Given the description of an element on the screen output the (x, y) to click on. 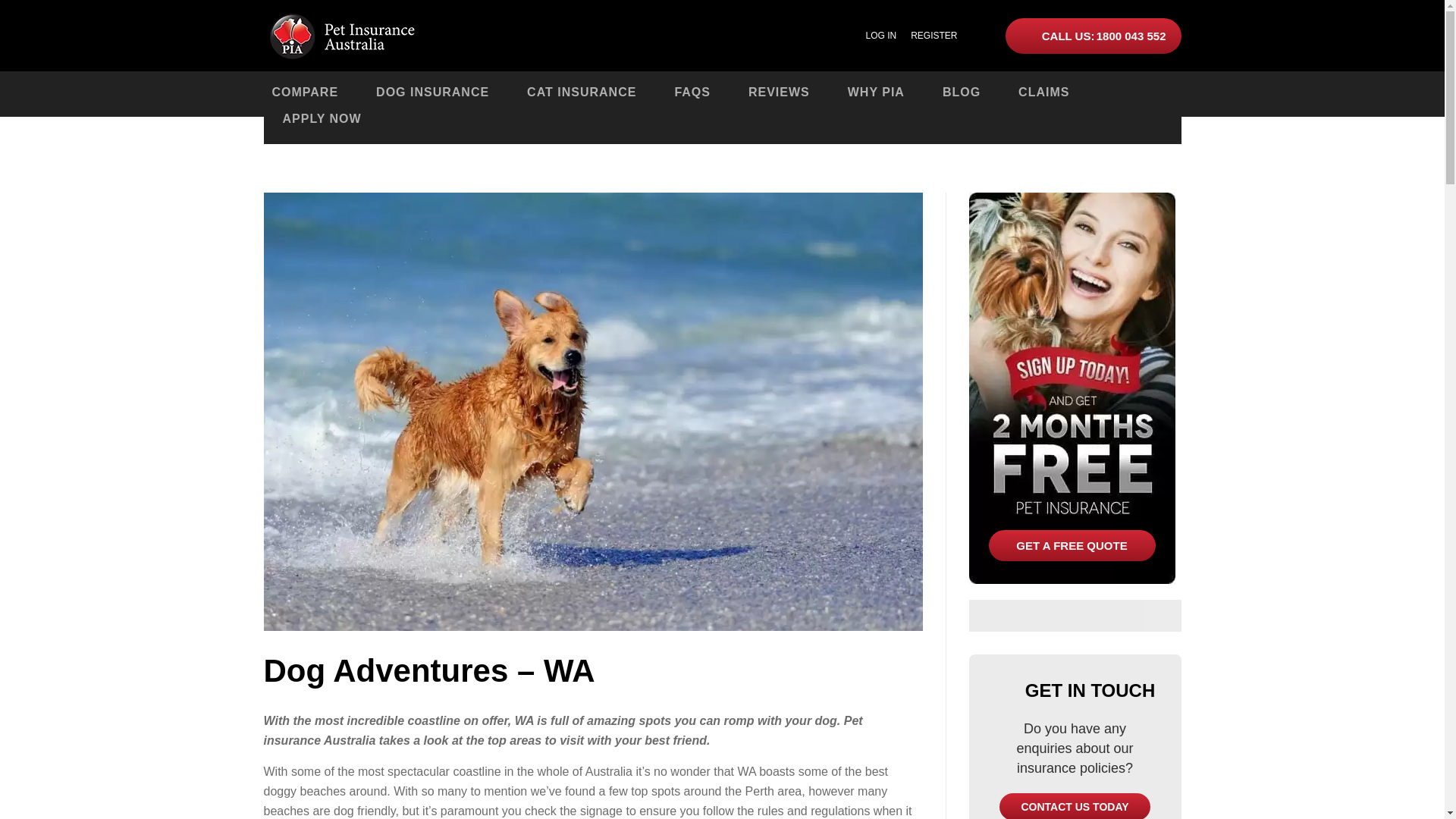
1800 043 552 (1093, 36)
REGISTER (933, 35)
REVIEWS (778, 91)
COMPARE (305, 91)
BLOG (961, 91)
GET A FREE QUOTE (1072, 545)
WHY PIA (876, 91)
FAQS (692, 91)
LOG IN (881, 35)
Search (1161, 615)
